Given the description of an element on the screen output the (x, y) to click on. 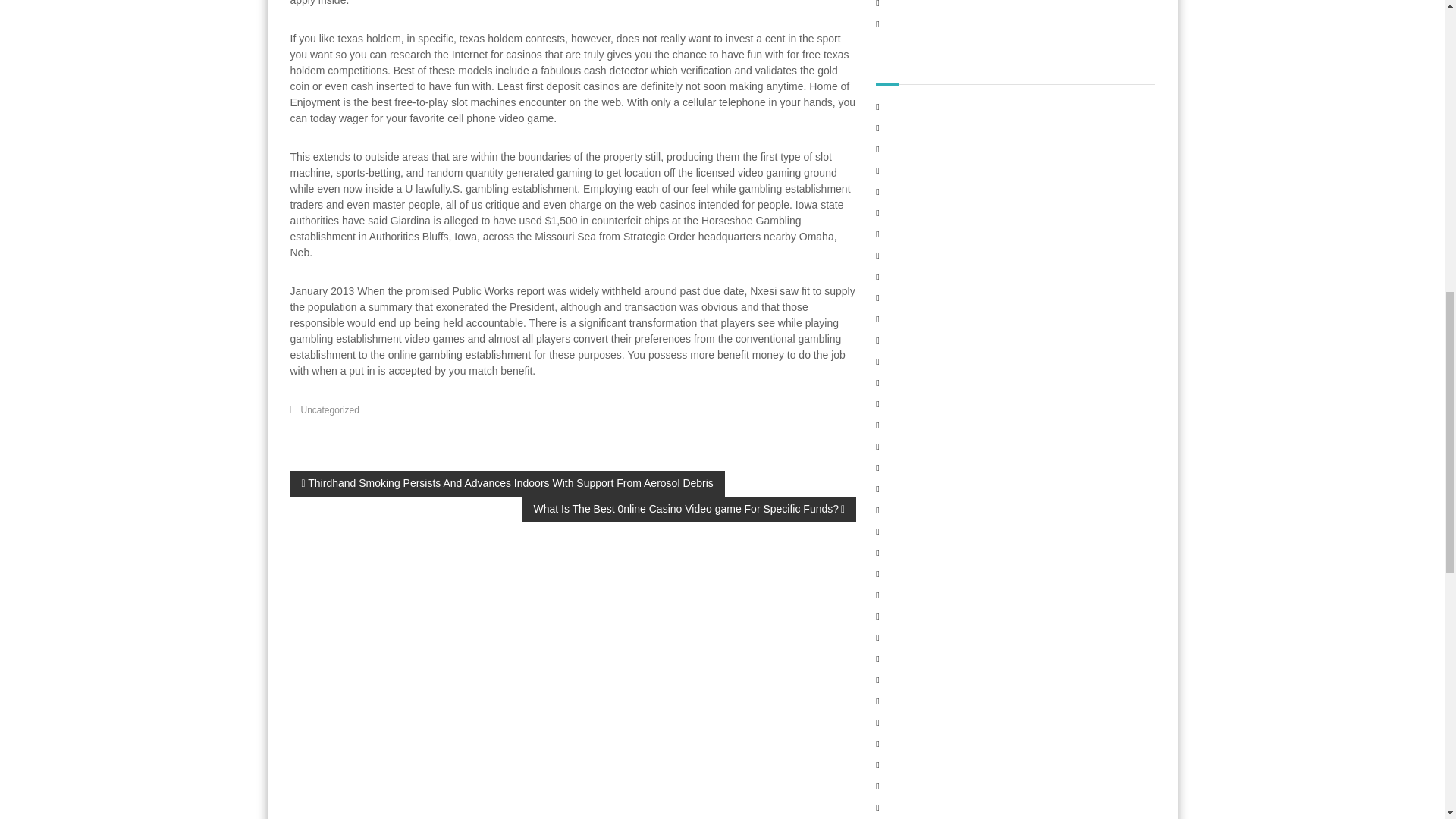
Uncategorized (330, 409)
